Given the description of an element on the screen output the (x, y) to click on. 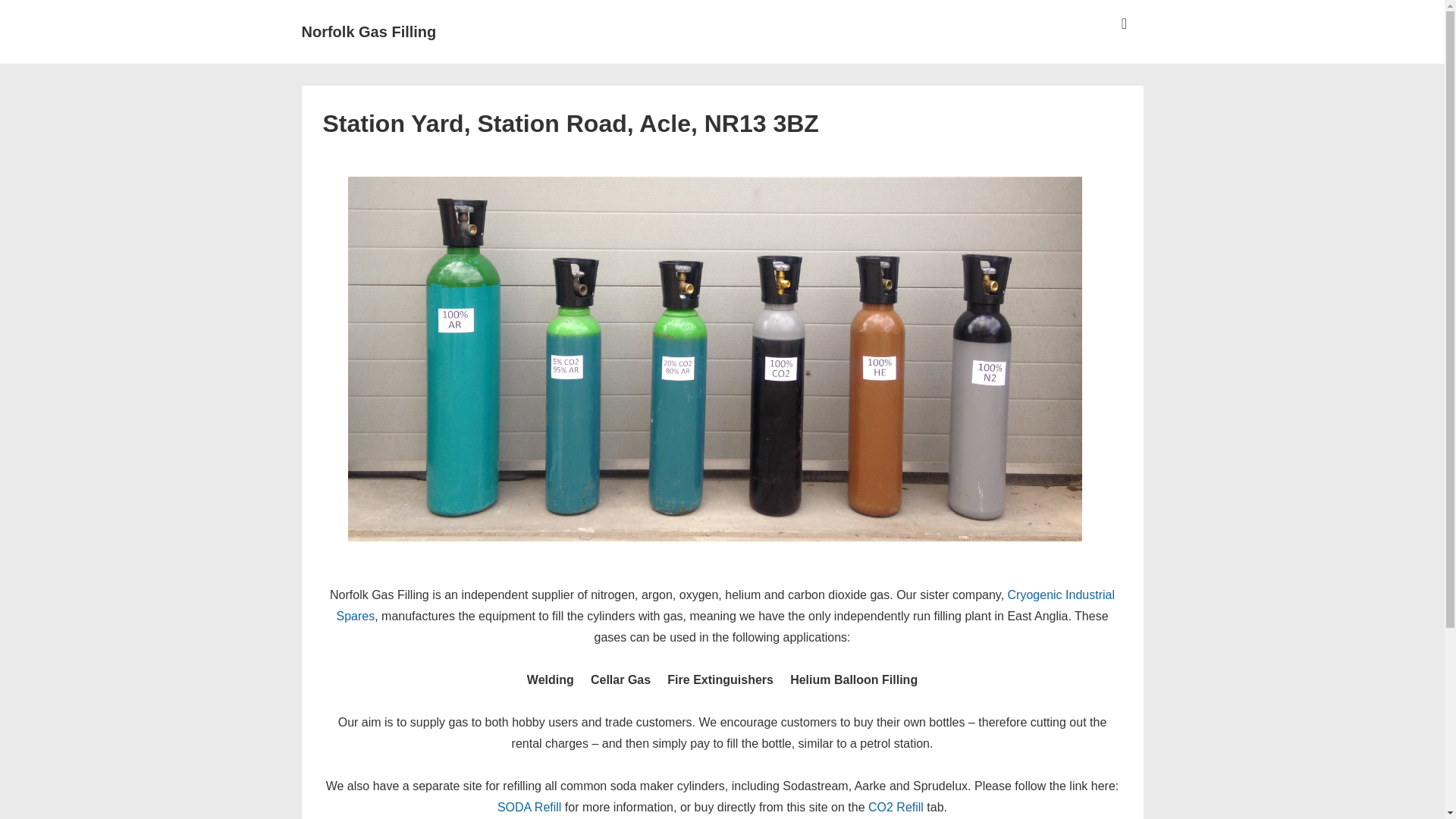
SODA Refill (528, 807)
Norfolk Gas Filling (368, 31)
MENU (1123, 23)
CO2 Refill (895, 807)
Cryogenic Industrial Spares (725, 605)
